Given the description of an element on the screen output the (x, y) to click on. 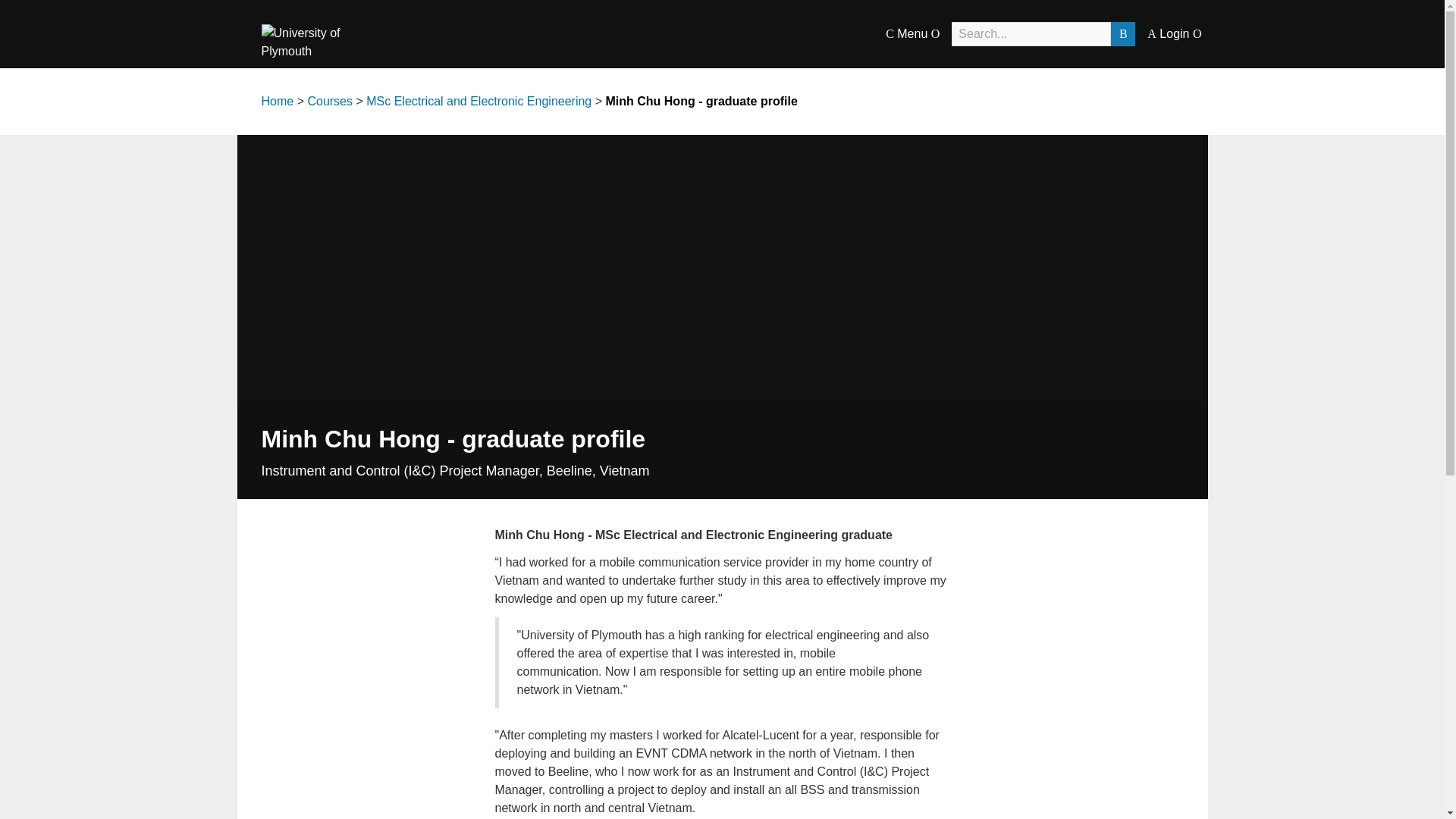
C Menu O (911, 33)
A Login O (1174, 33)
B (1122, 33)
